Given the description of an element on the screen output the (x, y) to click on. 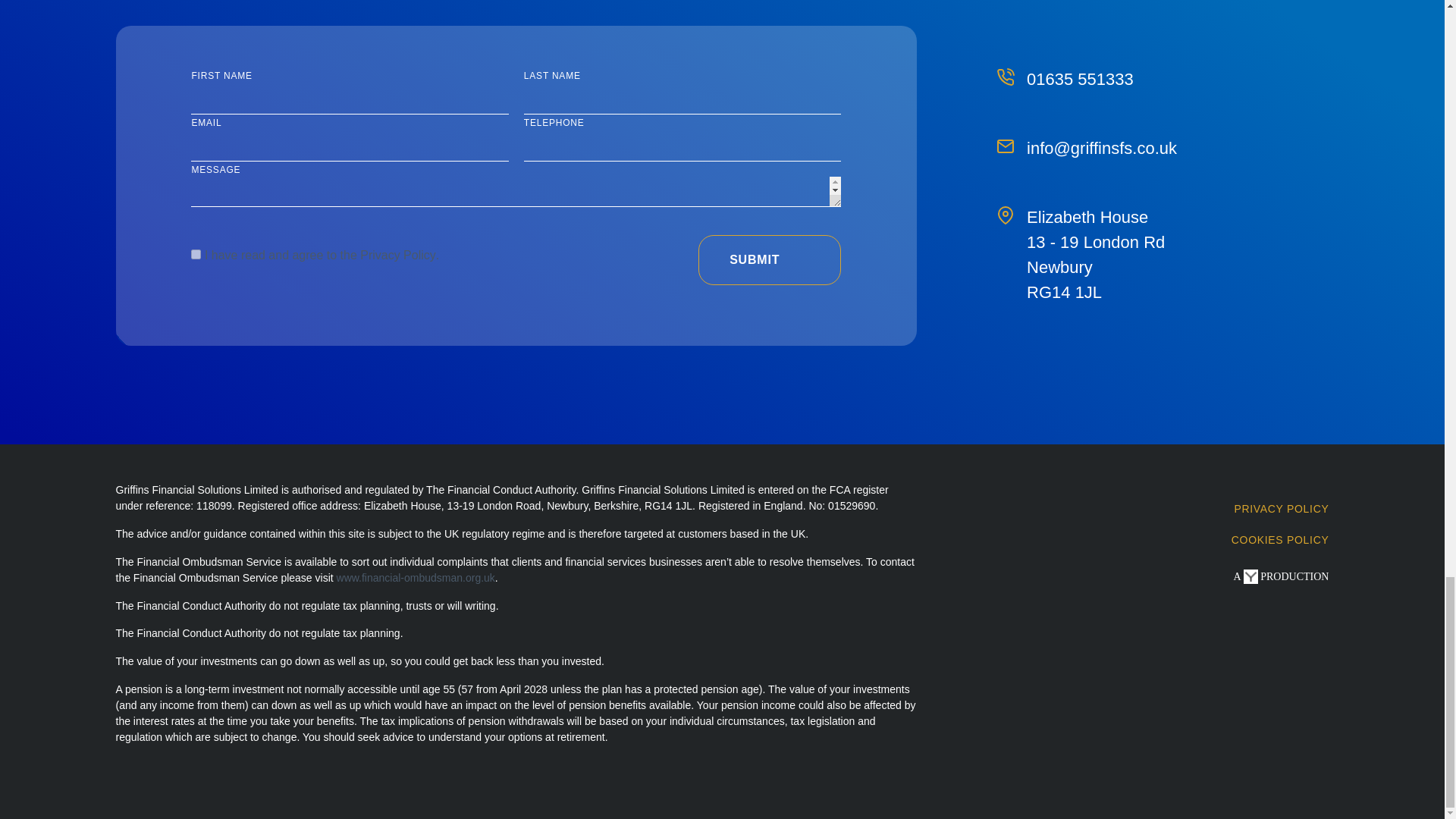
SUBMIT (769, 260)
1 (195, 254)
The Yardstick Agency (1281, 576)
Privacy Policy (397, 254)
